Given the description of an element on the screen output the (x, y) to click on. 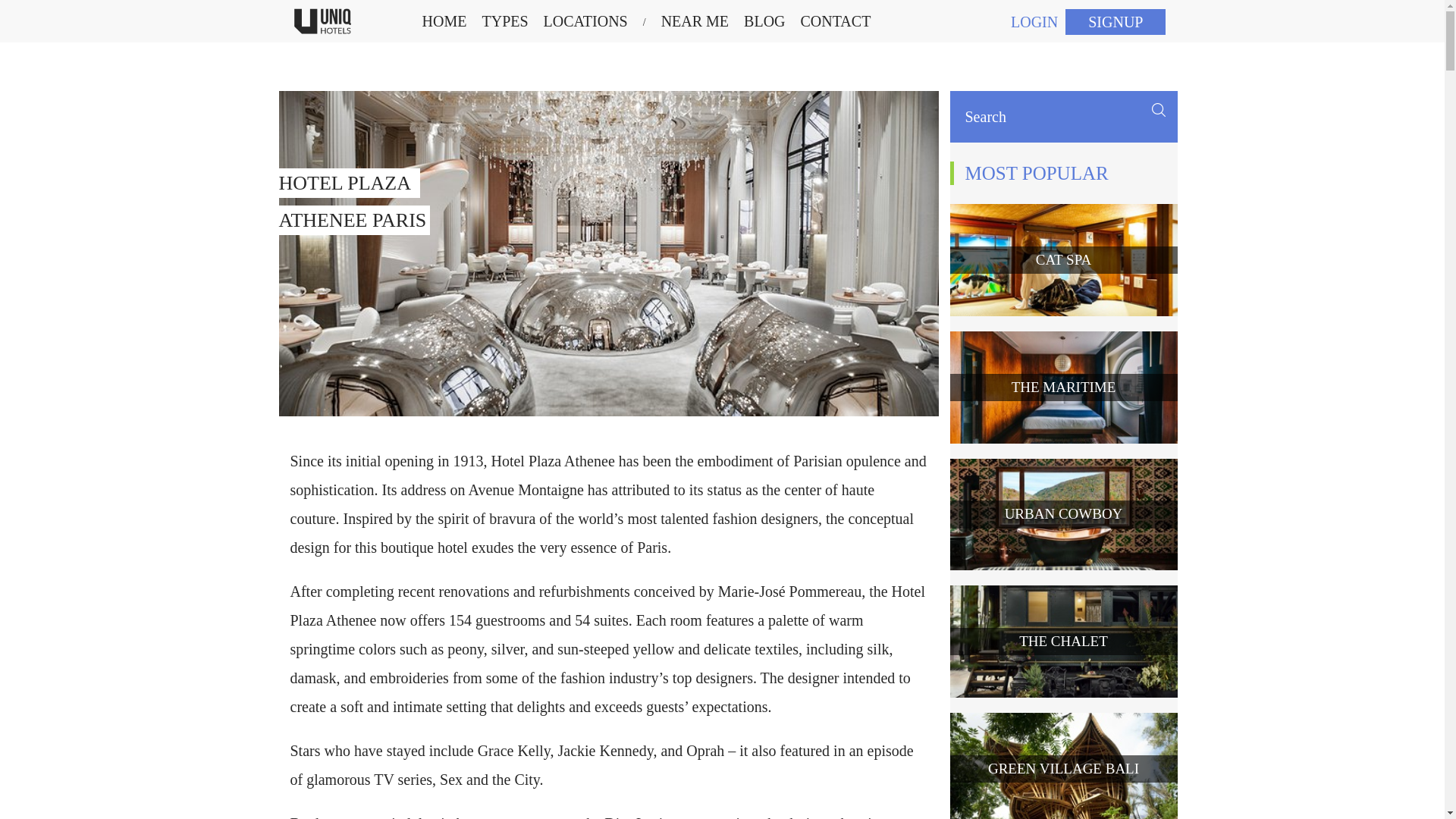
BLOG (764, 21)
HOME (444, 21)
CONTACT (835, 21)
LOCATIONS (504, 21)
NEAR ME (585, 21)
